Given the description of an element on the screen output the (x, y) to click on. 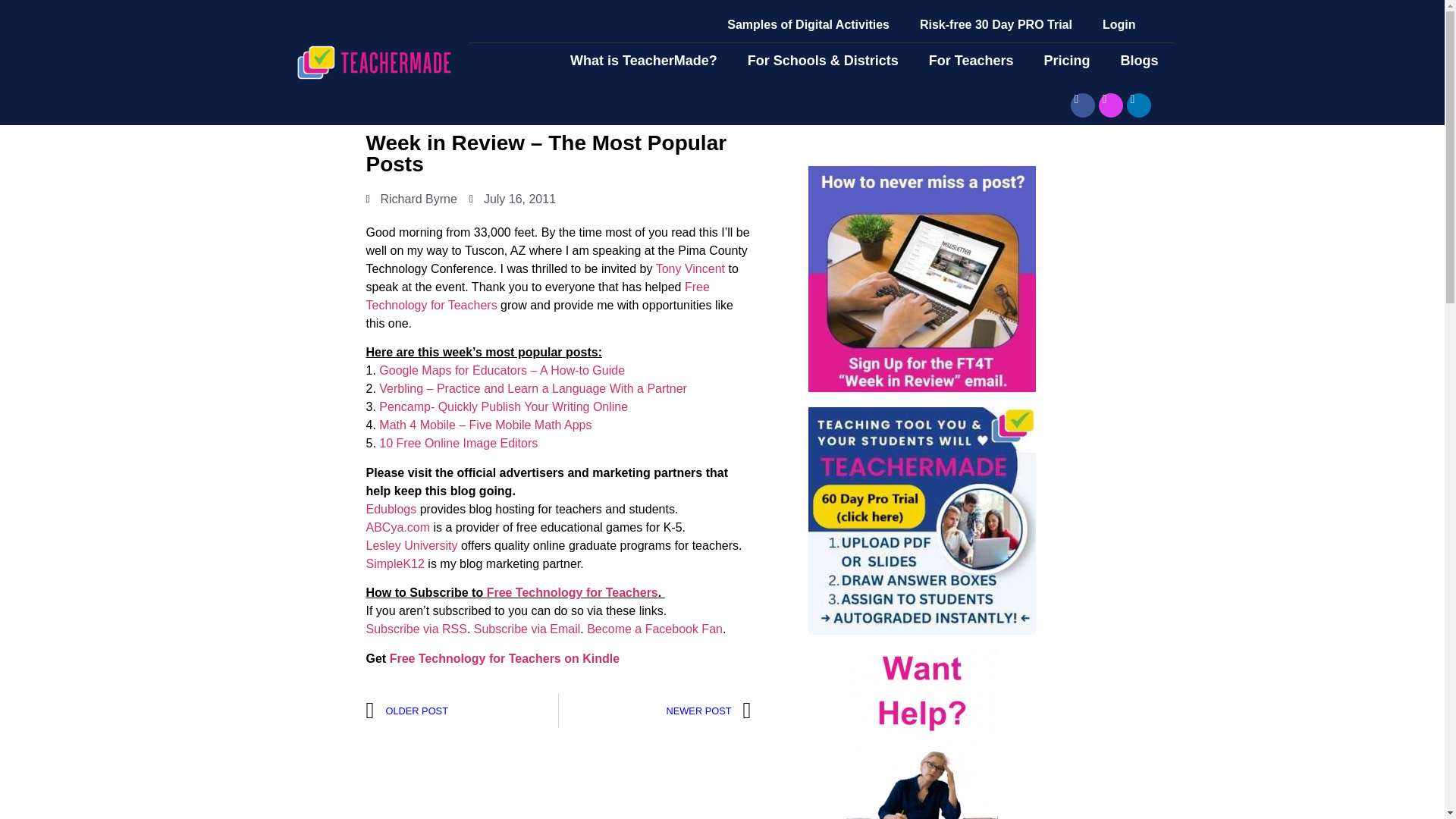
Risk-free 30 Day PRO Trial (995, 24)
Samples of Digital Activities (807, 24)
Pricing (1066, 60)
Blogs (1139, 60)
For Teachers (971, 60)
Login (1119, 24)
What is TeacherMade? (643, 60)
